Given the description of an element on the screen output the (x, y) to click on. 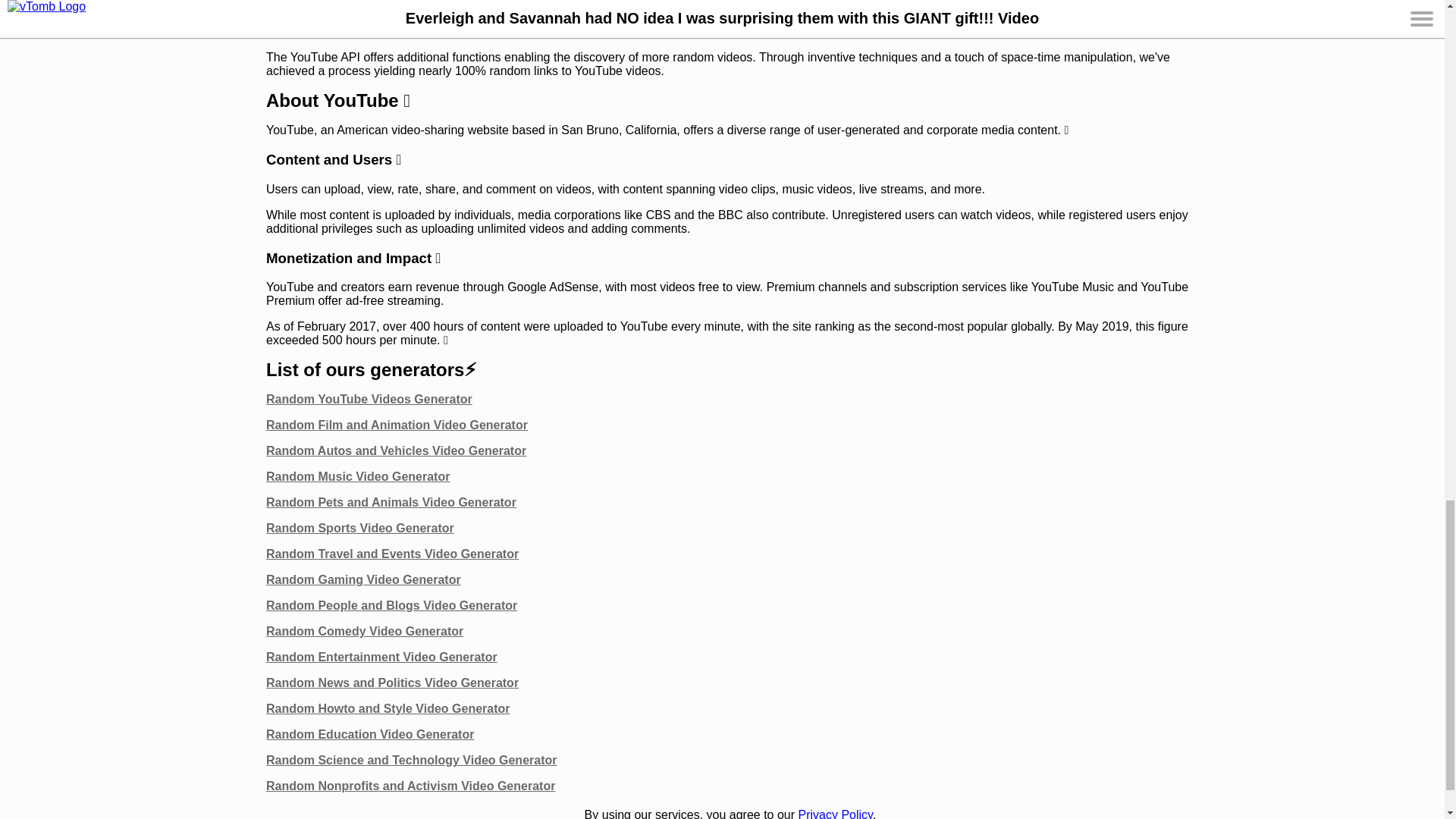
Random People and Blogs Video Generator (391, 604)
Random Travel and Events Video Generator (392, 553)
Random Sports Video Generator (360, 527)
Random YouTube Videos Generator (368, 399)
Random Gaming Video Generator (363, 579)
Random Pets and Animals Video Generator (391, 502)
Random Comedy Video Generator (364, 631)
Random Film and Animation Video Generator (396, 424)
Random Music Video Generator (357, 476)
Random Autos and Vehicles Video Generator (395, 450)
